Given the description of an element on the screen output the (x, y) to click on. 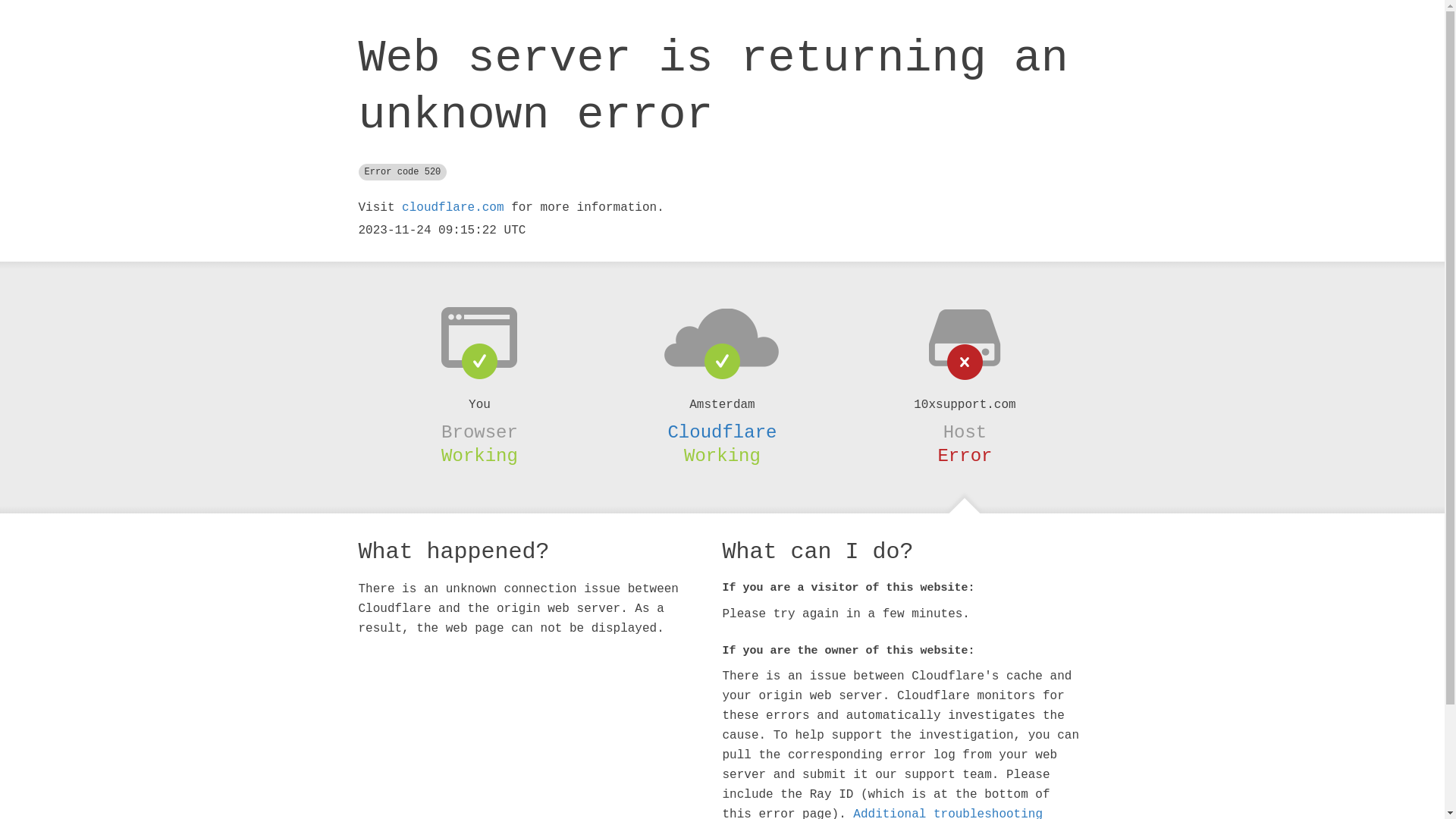
cloudflare.com Element type: text (452, 207)
Cloudflare Element type: text (721, 432)
